Given the description of an element on the screen output the (x, y) to click on. 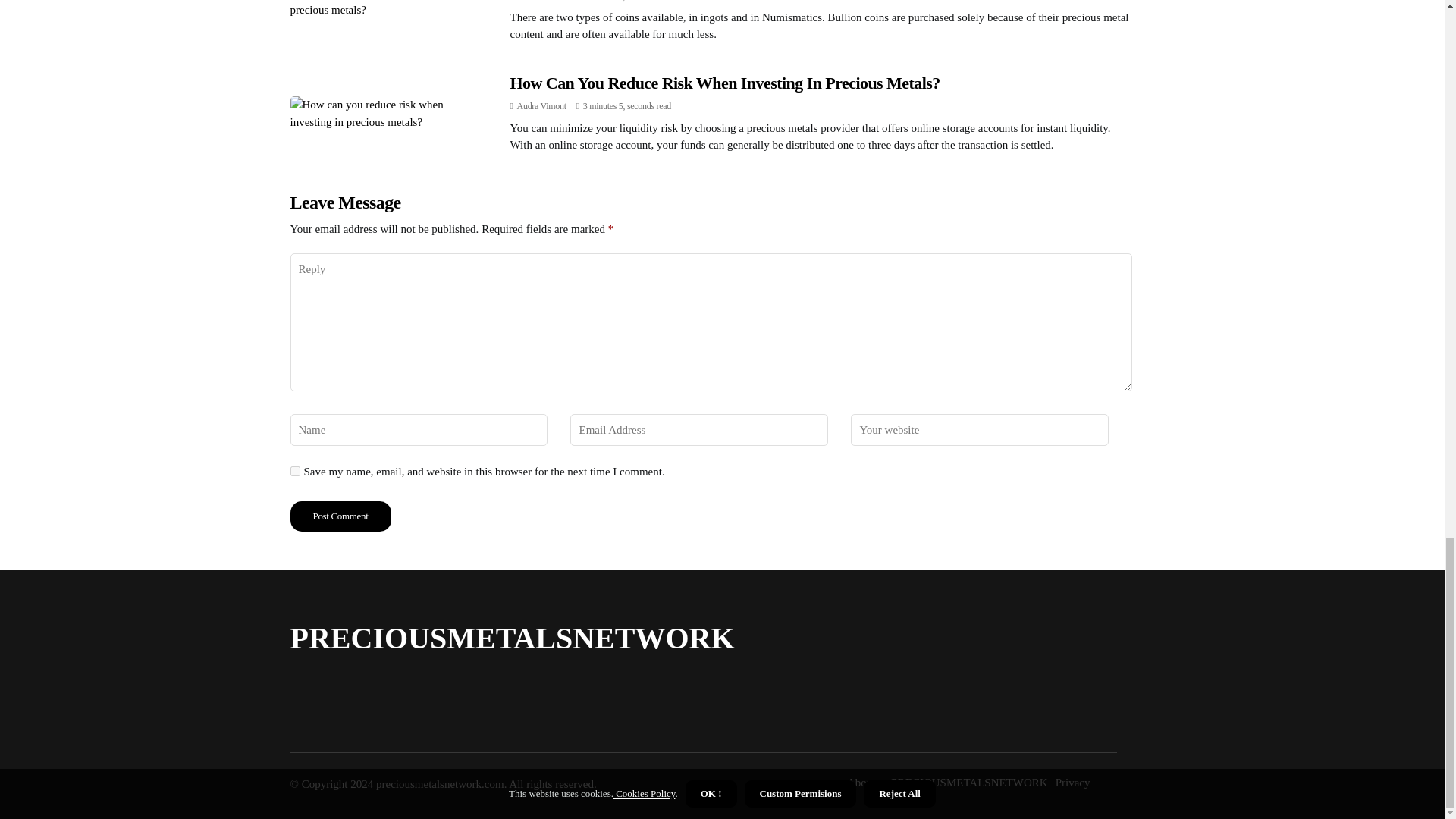
Post Comment (339, 516)
Audra Vimont (541, 0)
Posts by Audra Vimont (541, 105)
How Can You Reduce Risk When Investing In Precious Metals? (724, 82)
Audra Vimont (541, 105)
yes (294, 470)
Posts by Audra Vimont (541, 0)
Post Comment (339, 516)
